Given the description of an element on the screen output the (x, y) to click on. 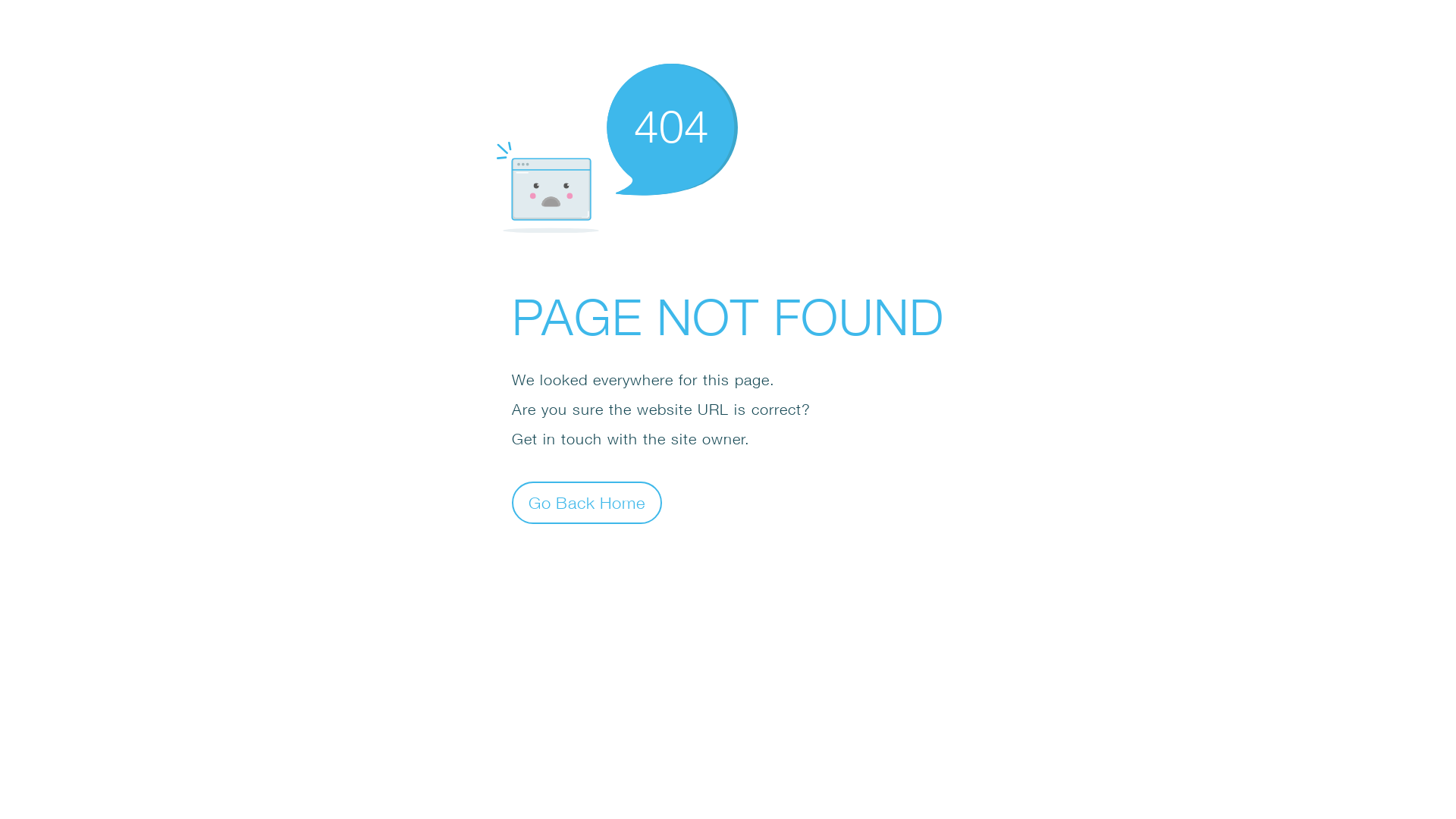
Go Back Home Element type: text (586, 502)
